Given the description of an element on the screen output the (x, y) to click on. 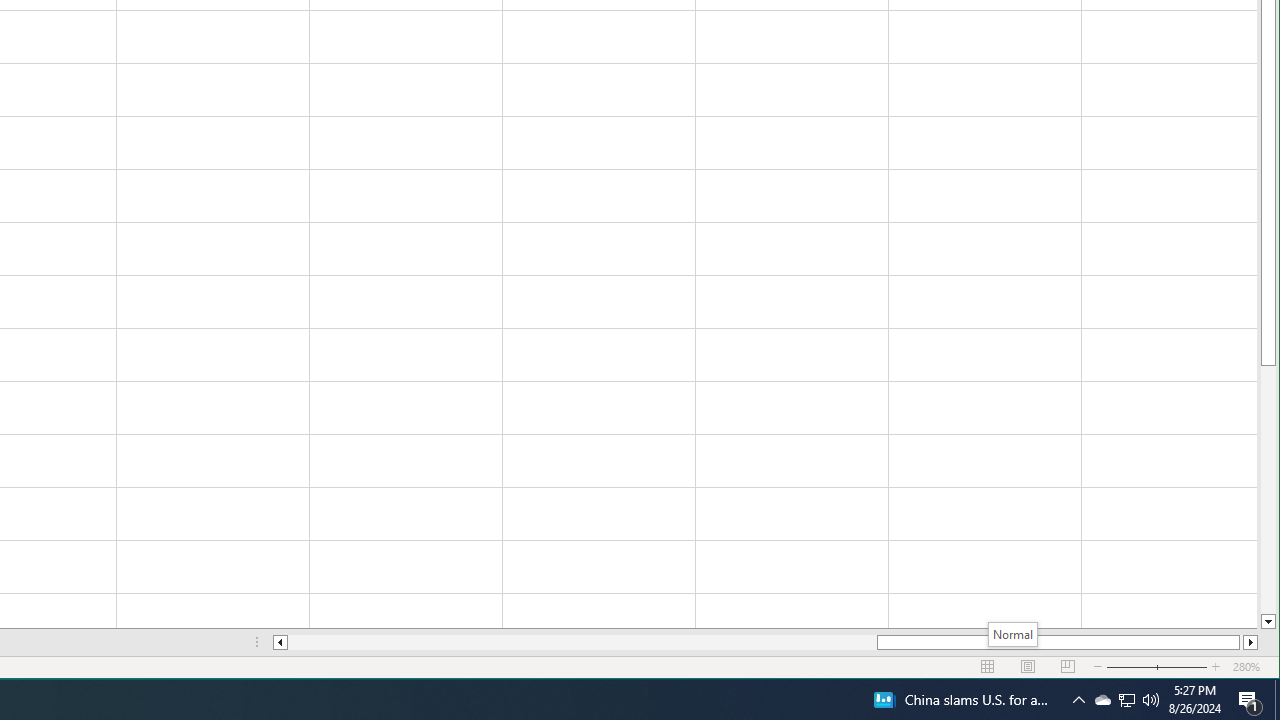
Action Center, 1 new notification (1250, 699)
